Given the description of an element on the screen output the (x, y) to click on. 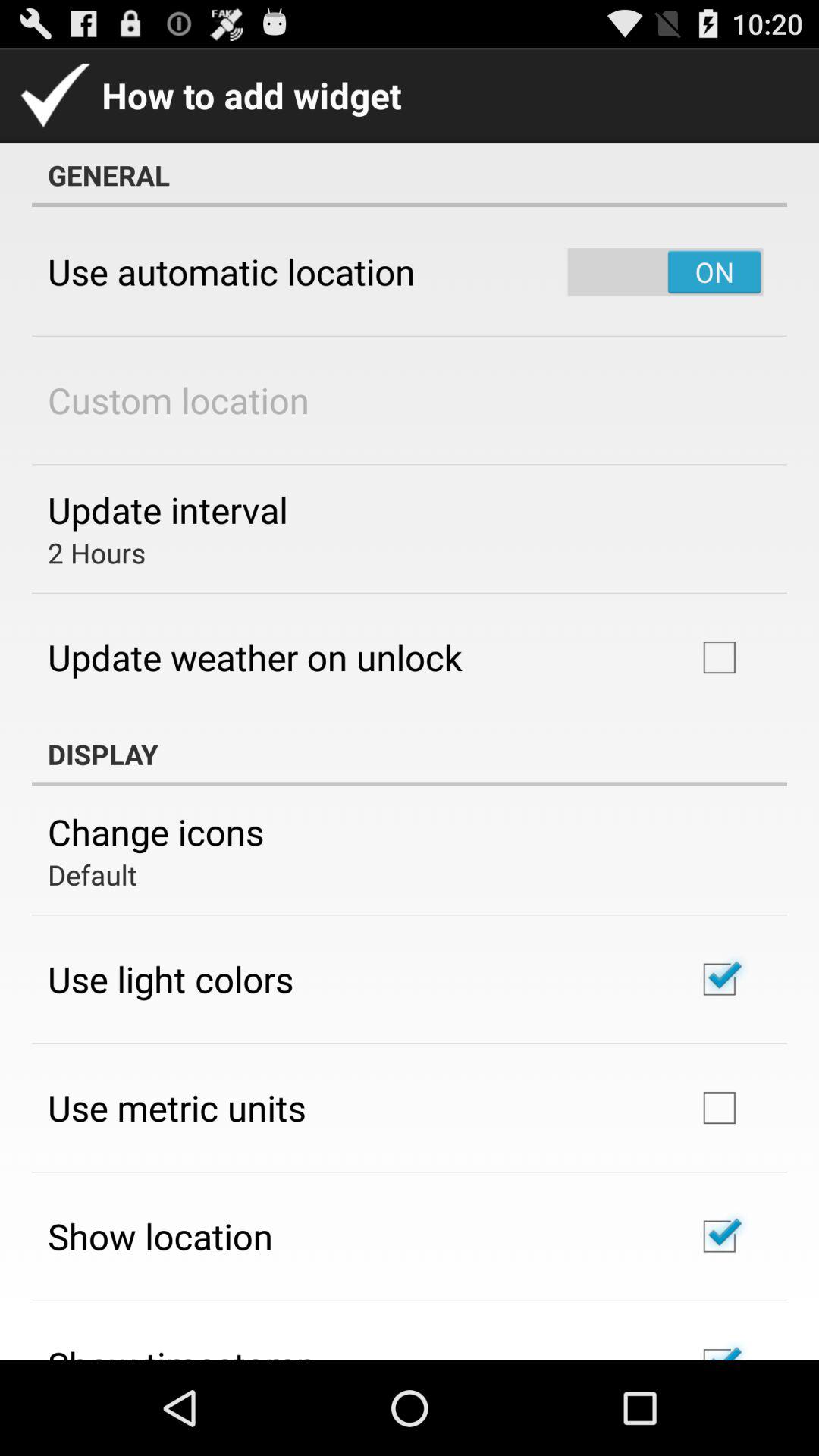
turn off the item to the right of the use automatic location item (665, 271)
